Given the description of an element on the screen output the (x, y) to click on. 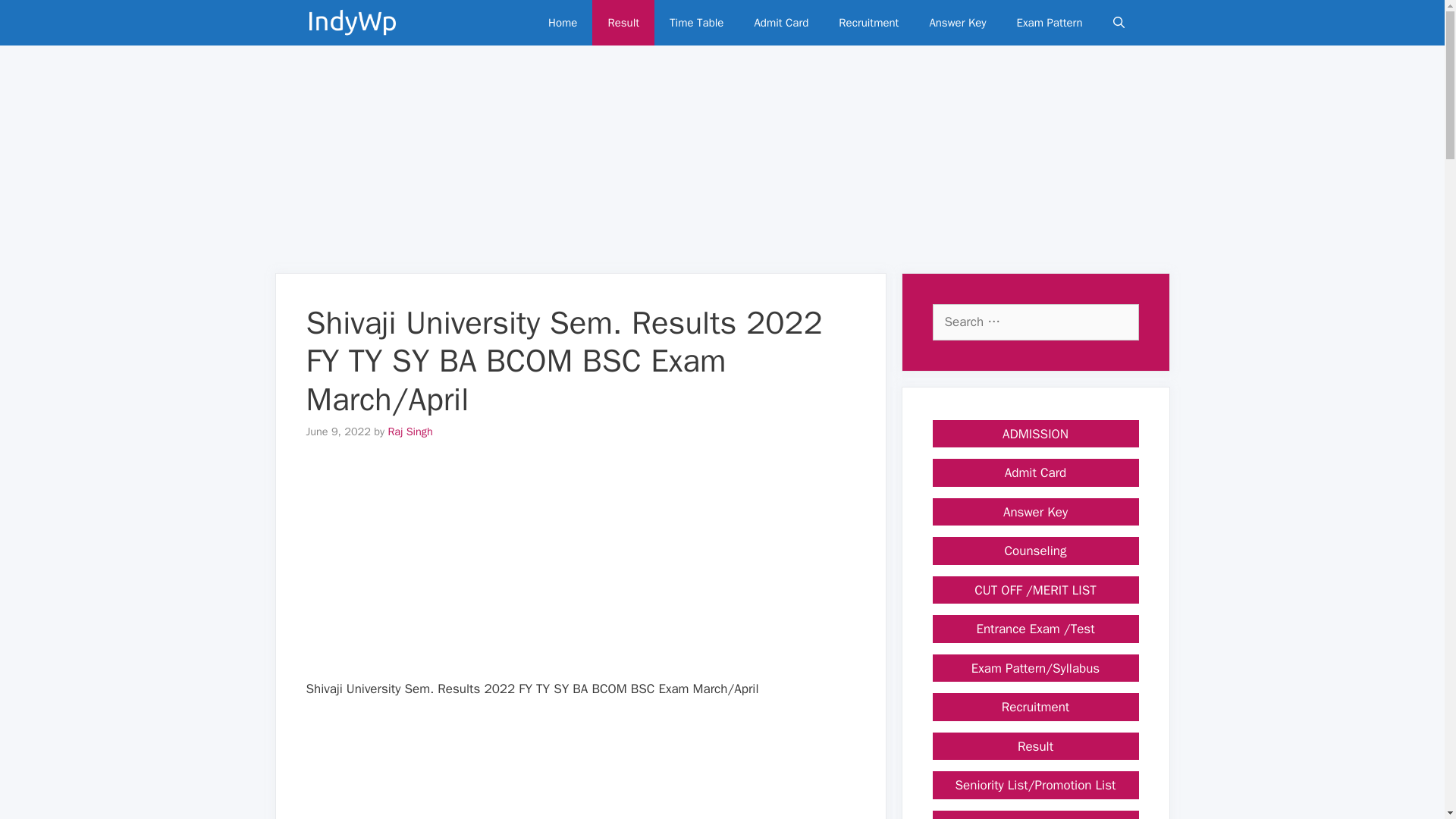
Admit Card (781, 22)
University Exam Results, Time Table, Admit Card 2022 (351, 22)
Raj Singh (409, 431)
Search for: (1035, 321)
University Exam Results, Time Table, Admit Card 2022 (355, 22)
Advertisement (580, 769)
Search (34, 17)
Time Table (695, 22)
Advertisement (580, 572)
